Given the description of an element on the screen output the (x, y) to click on. 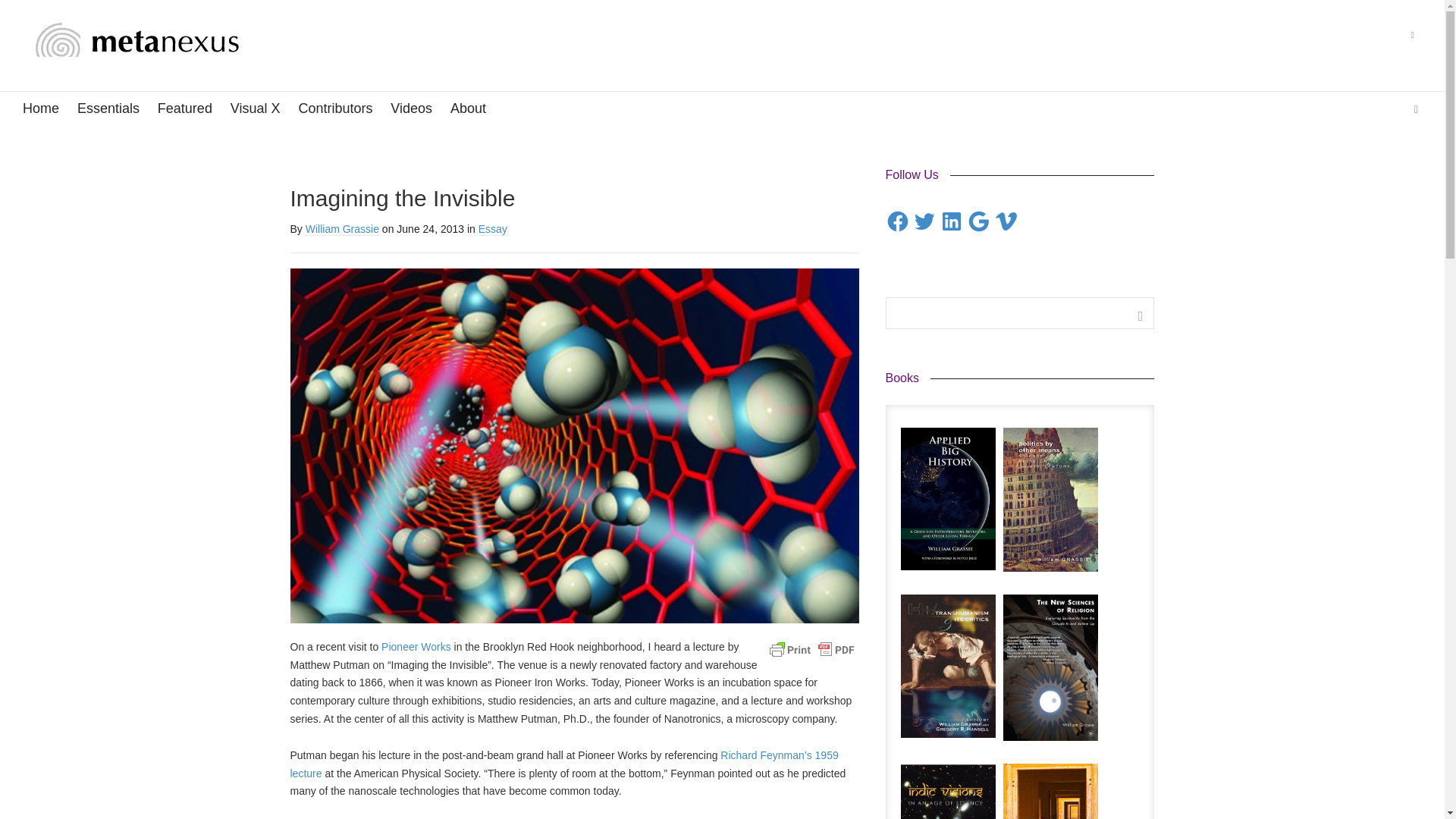
William Grassie (341, 228)
Visual X (255, 109)
Videos (411, 109)
Contributors (335, 109)
About (467, 109)
Featured (184, 109)
Essay (492, 228)
Essentials (108, 109)
Home (41, 109)
Pioneer Works (416, 646)
